Given the description of an element on the screen output the (x, y) to click on. 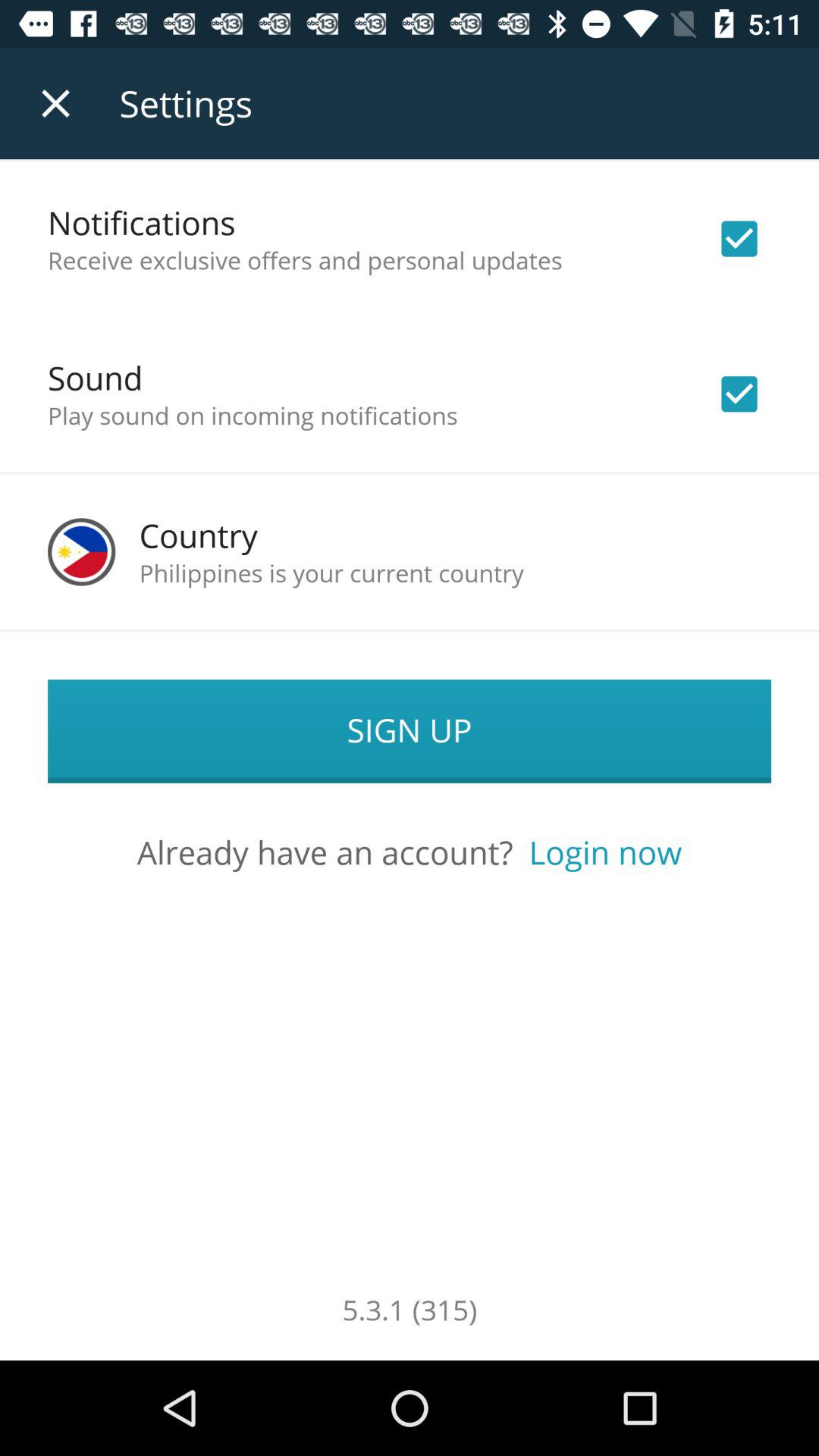
open the item on the right (604, 851)
